Given the description of an element on the screen output the (x, y) to click on. 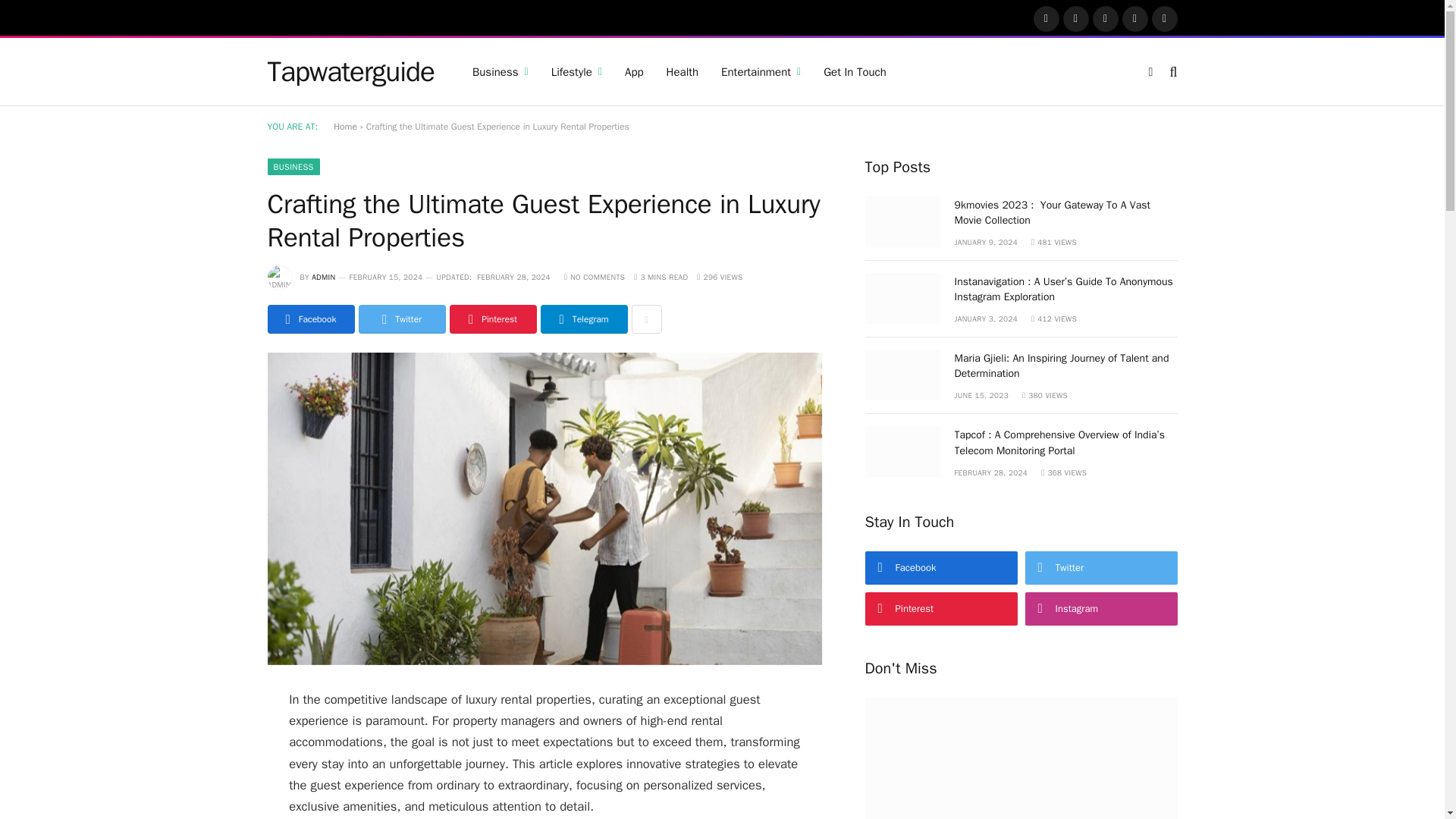
Get In Touch (855, 71)
Share on Telegram (583, 318)
Share on Facebook (309, 318)
Facebook (1046, 18)
Business (500, 71)
Share on Pinterest (491, 318)
Posts by admin (322, 276)
Vimeo (1164, 18)
Instagram (1105, 18)
Lifestyle (576, 71)
